Given the description of an element on the screen output the (x, y) to click on. 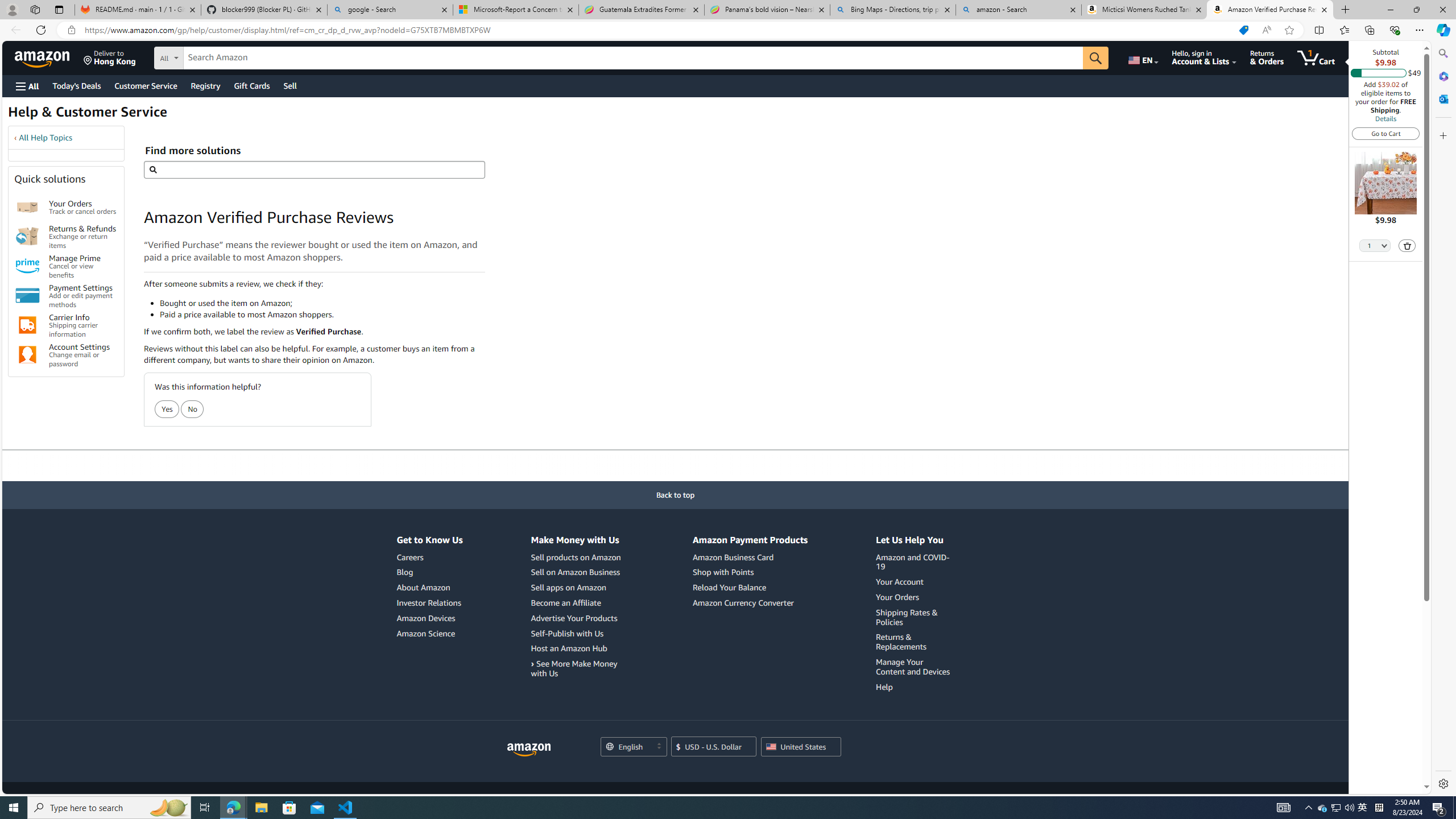
Advertise Your Products (576, 618)
Amazon Business Card (732, 557)
Account Settings (27, 354)
Returns & Replacements (901, 642)
Details (1385, 118)
Sell products on Amazon (576, 557)
Sell products on Amazon (575, 557)
Returns & Refunds (27, 236)
Manage Prime (27, 266)
Today's Deals (76, 85)
